Given the description of an element on the screen output the (x, y) to click on. 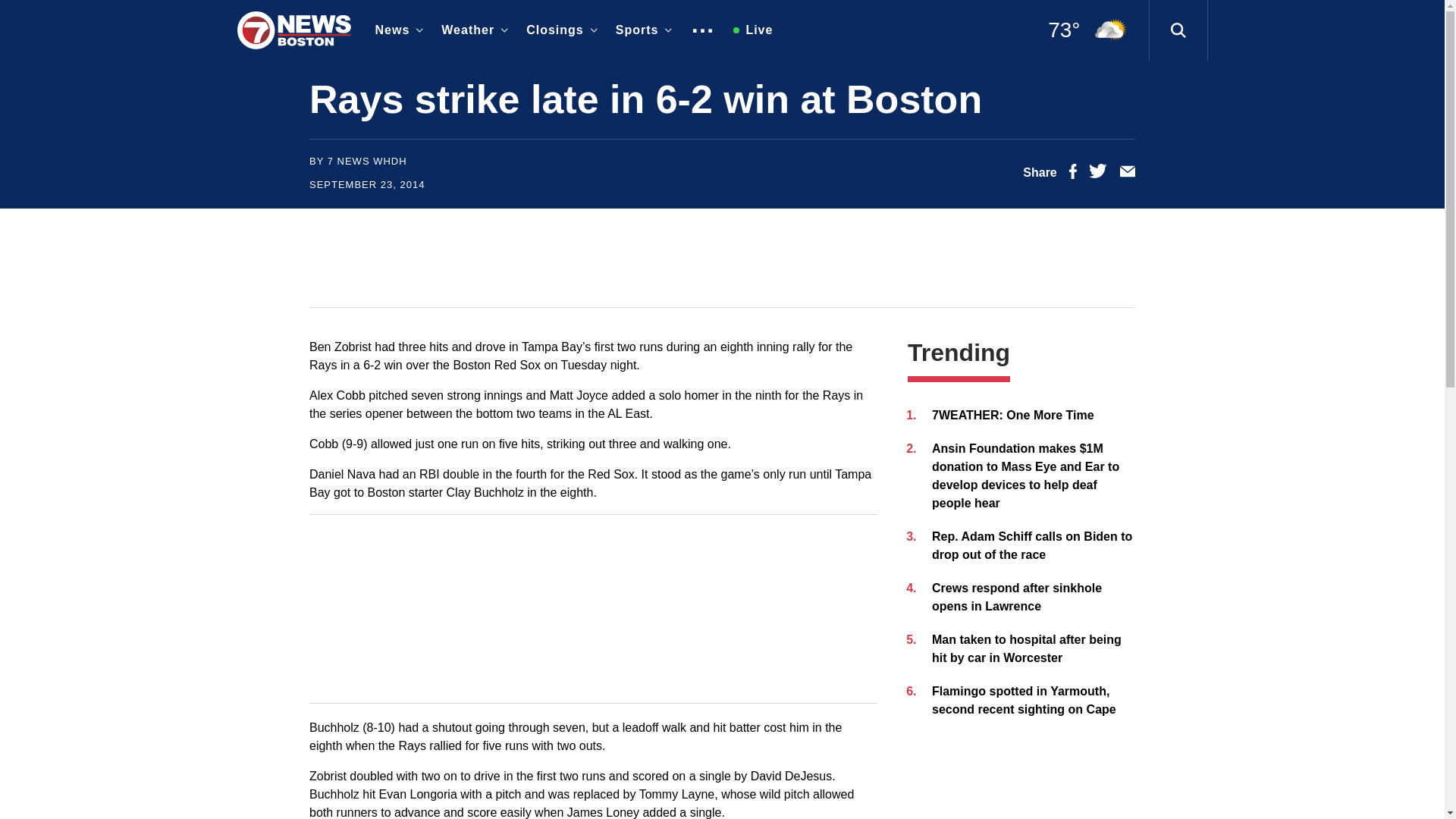
3rd party ad content (721, 257)
Twitter (1098, 174)
News (395, 30)
3rd party ad content (593, 608)
Closings (558, 30)
September 23, 2014 (366, 184)
Sports (641, 30)
Posts by 7 News WHDH (367, 161)
Email (1127, 174)
Weather (471, 30)
